Given the description of an element on the screen output the (x, y) to click on. 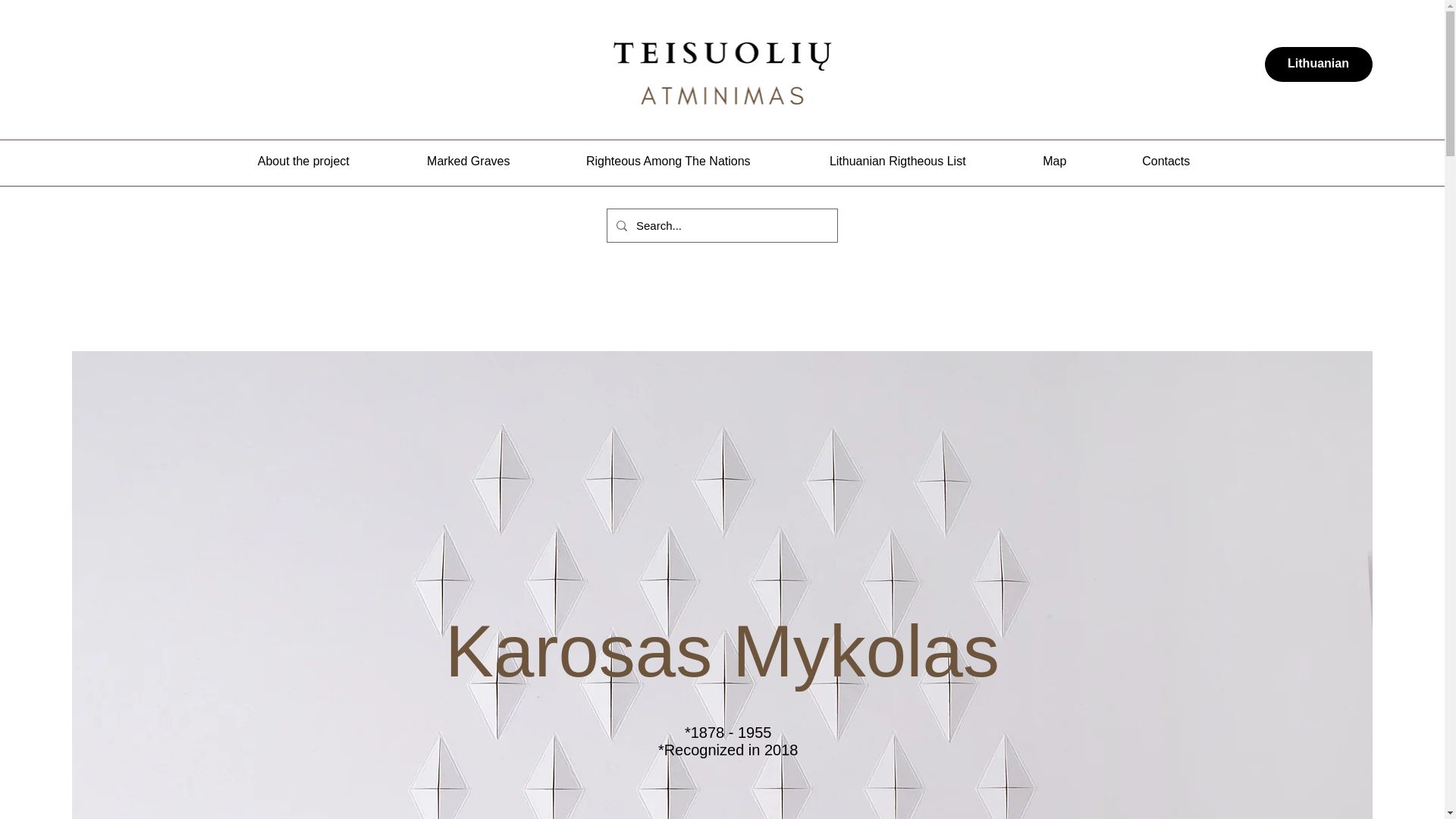
Marked Graves (468, 160)
Lithuanian (1319, 63)
Contacts (1165, 160)
About the project (303, 160)
Righteous Among The Nations (668, 160)
Lithuanian Rigtheous List (898, 160)
Map (1054, 160)
